Given the description of an element on the screen output the (x, y) to click on. 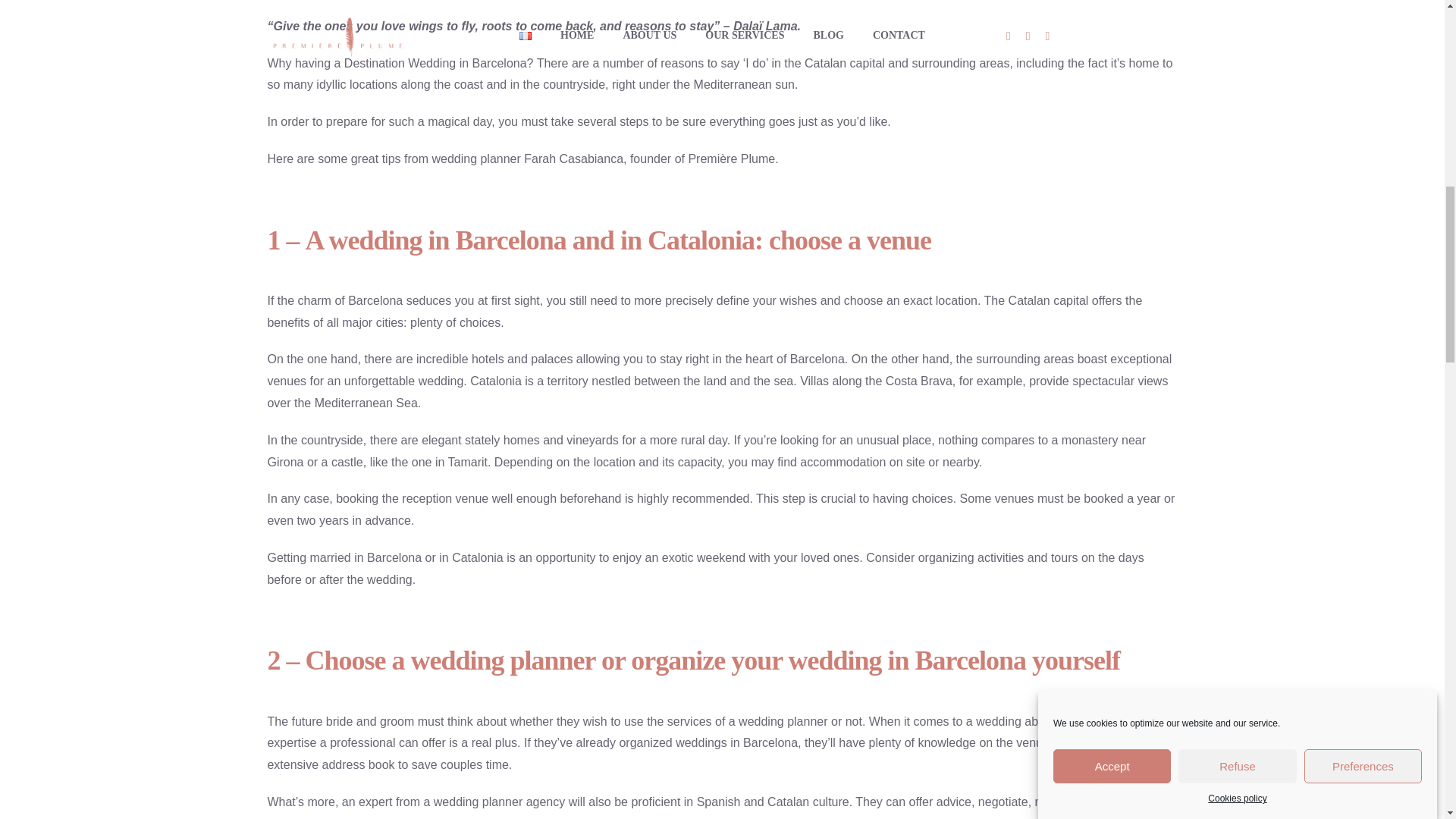
Accept (1111, 236)
Refuse (1236, 220)
Preferences (1363, 204)
Cookies policy (1237, 179)
